Given the description of an element on the screen output the (x, y) to click on. 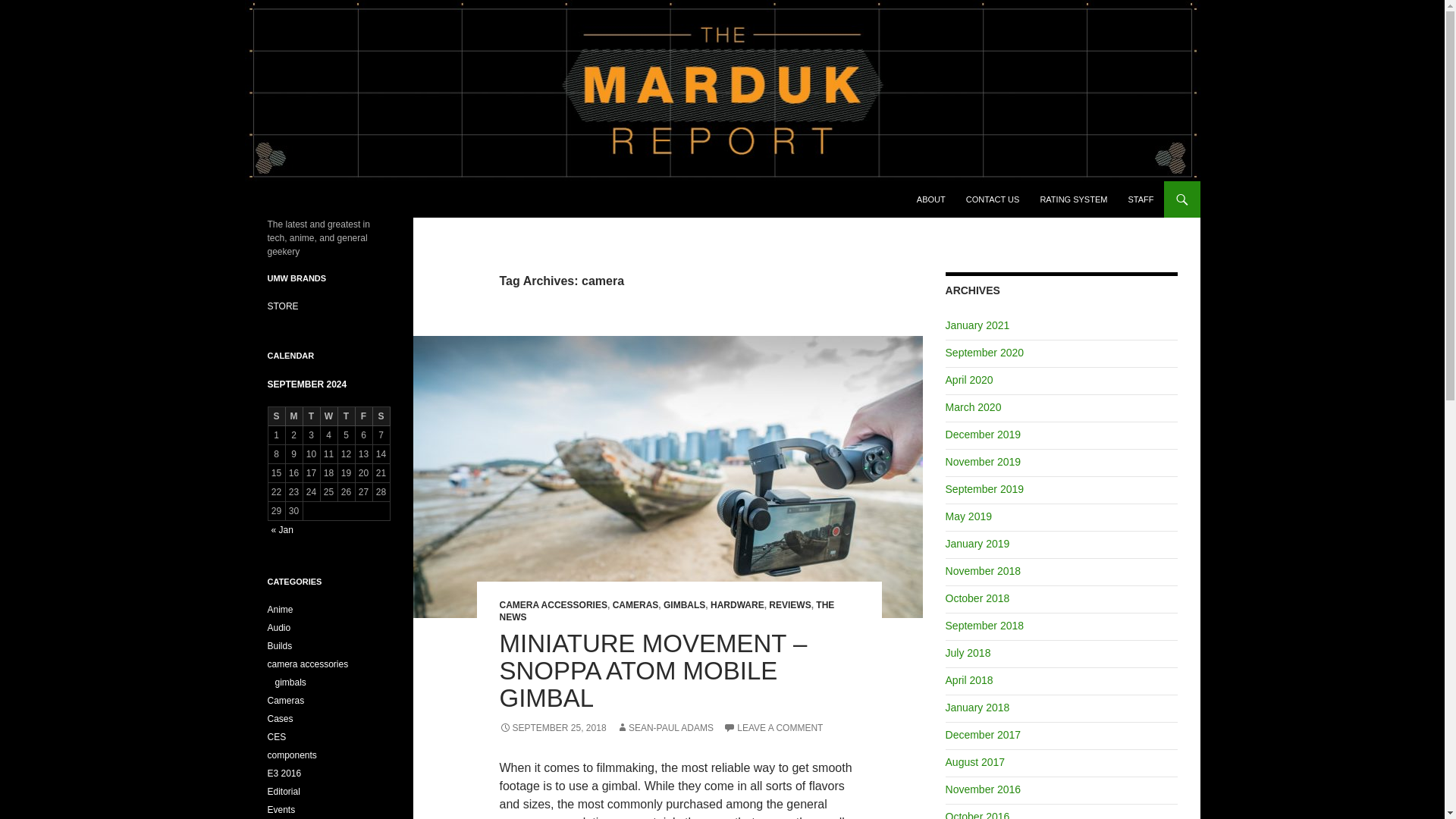
Sunday (276, 416)
STAFF (1139, 198)
SEPTEMBER 25, 2018 (552, 727)
RATING SYSTEM (1073, 198)
Wednesday (328, 416)
THE NEWS (666, 610)
Friday (363, 416)
CAMERAS (635, 604)
S-Ranked Design Armada (282, 306)
